Given the description of an element on the screen output the (x, y) to click on. 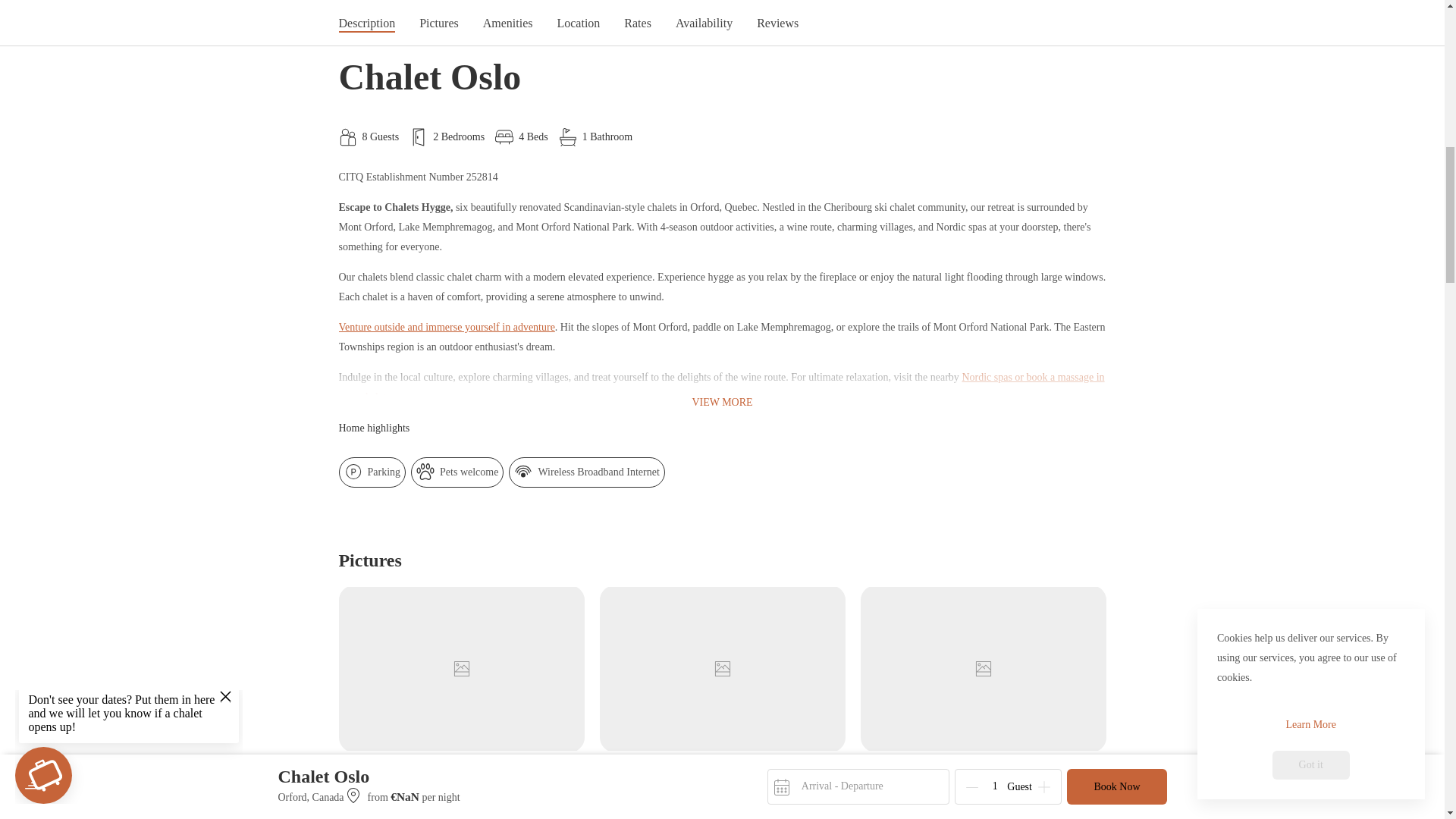
Nordic spas or book a massage in your chalet (720, 386)
Venture outside and immerse yourself in adventure (445, 326)
